Given the description of an element on the screen output the (x, y) to click on. 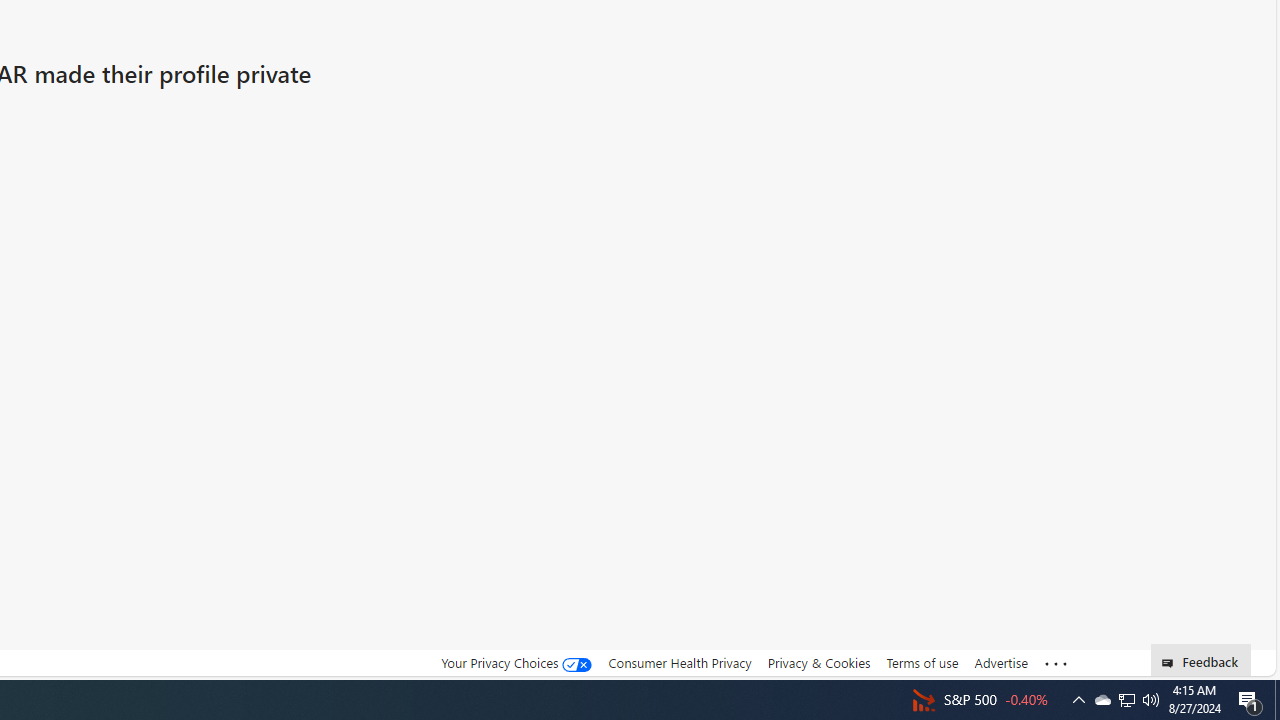
Class: oneFooter_seeMore-DS-EntryPoint1-1 (1055, 663)
Privacy & Cookies (818, 663)
Your Privacy Choices (516, 663)
Terms of use (921, 663)
Consumer Health Privacy (680, 662)
Consumer Health Privacy (680, 663)
Class: feedback_link_icon-DS-EntryPoint1-1 (1170, 663)
Terms of use (921, 662)
Privacy & Cookies (818, 662)
Your Privacy Choices (516, 662)
